Given the description of an element on the screen output the (x, y) to click on. 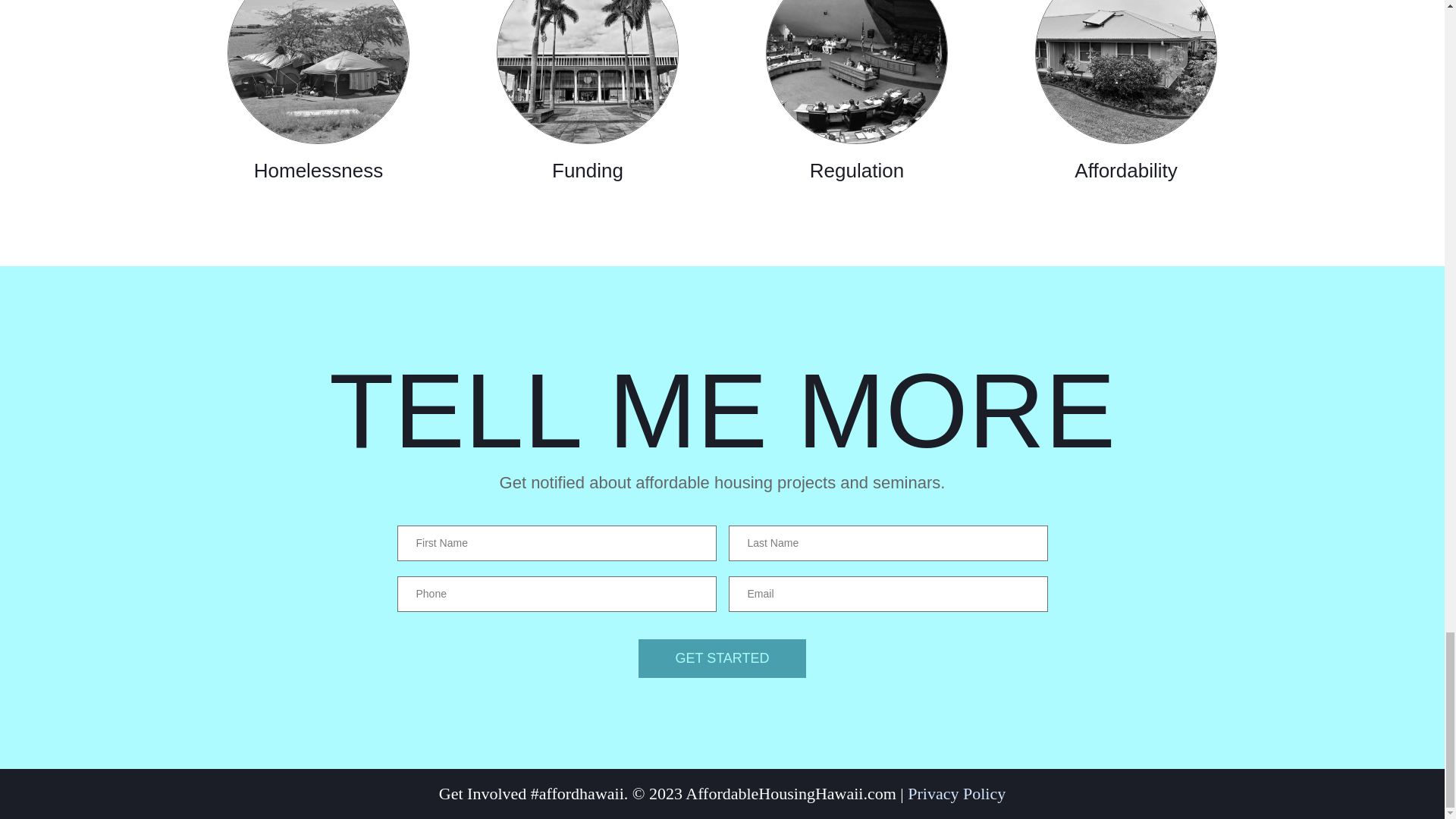
Regulation (856, 95)
GET STARTED (722, 658)
Homelessness (317, 95)
Affordability (1125, 95)
Privacy Policy (956, 793)
Funding (587, 95)
